Given the description of an element on the screen output the (x, y) to click on. 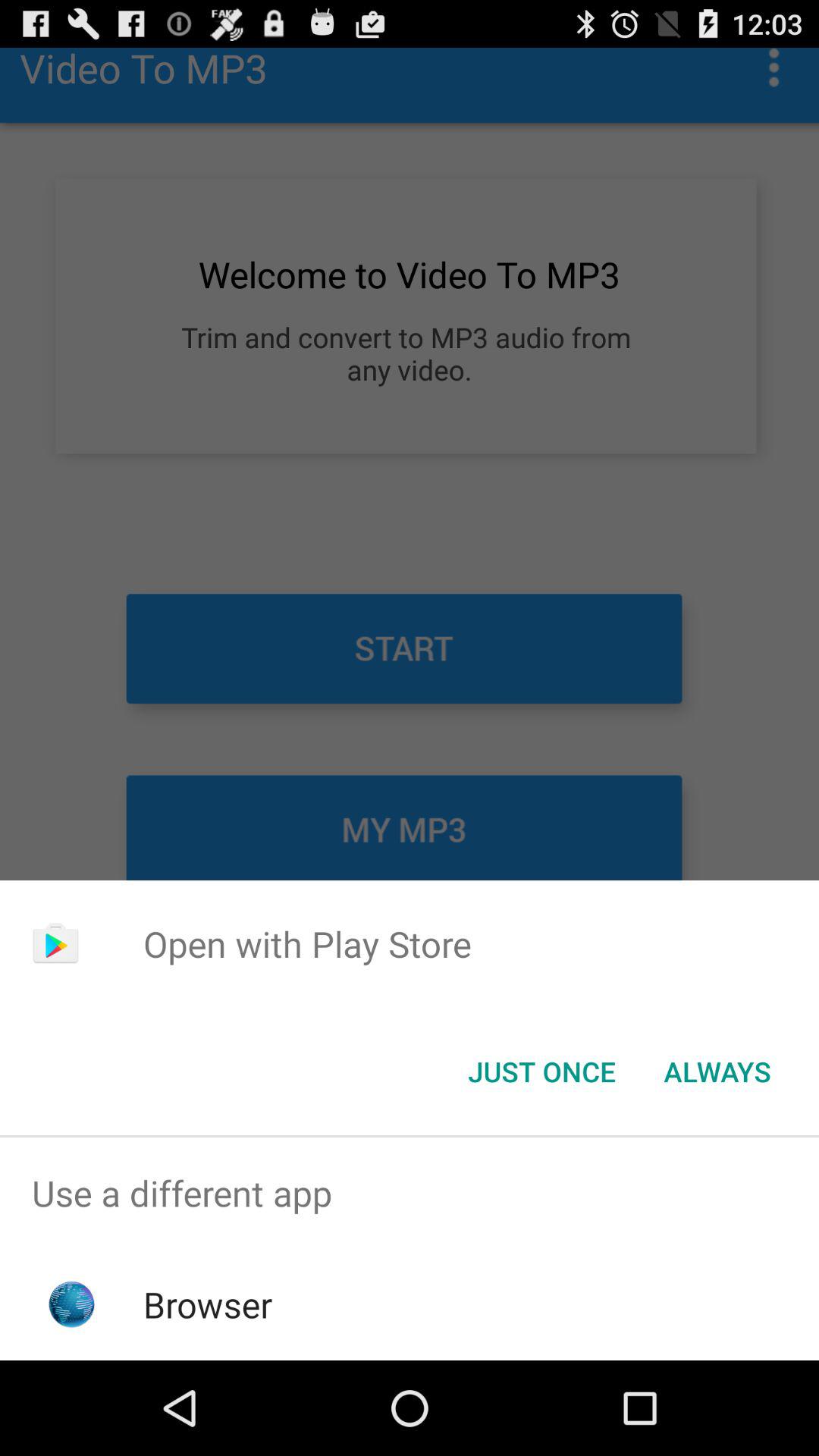
open item to the left of the always button (541, 1071)
